Given the description of an element on the screen output the (x, y) to click on. 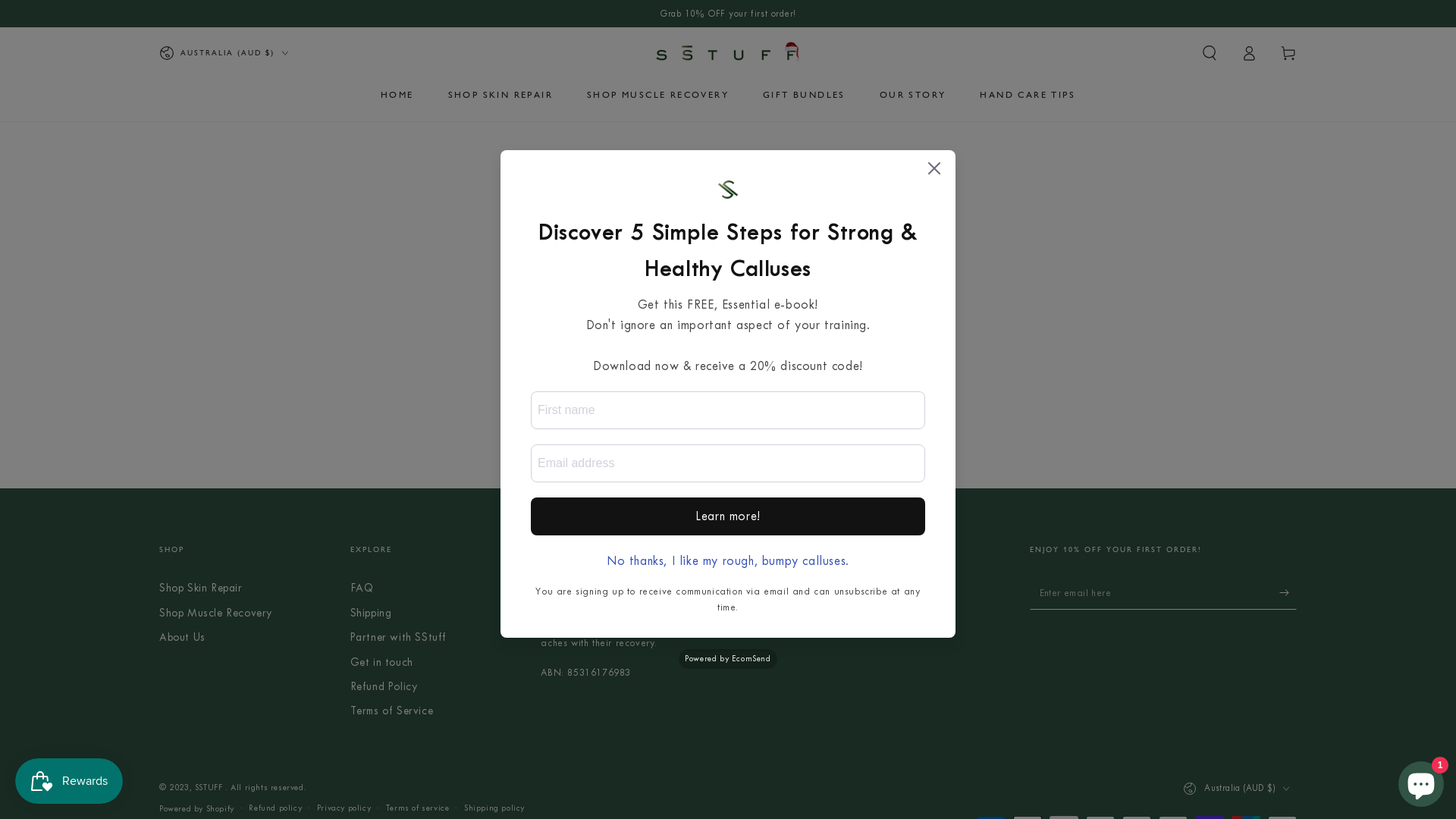
Shipping policy Element type: text (494, 808)
SHOP SKIN REPAIR Element type: text (500, 94)
Terms of service Element type: text (417, 808)
OUR STORY Element type: text (912, 94)
SSTUFF Element type: text (209, 787)
Log in Element type: text (1248, 52)
Grab 10% OFF your first order! Element type: text (727, 13)
Shop Skin Repair Element type: text (200, 587)
Terms of Service Element type: text (391, 710)
Shopify online store chat Element type: hover (1420, 780)
Smile.io Rewards Program Launcher Element type: hover (68, 780)
Australia (AUD $) Element type: text (1239, 787)
Shop Muscle Recovery Element type: text (215, 612)
Partner with SStuff Element type: text (398, 636)
Powered by Shopify Element type: text (196, 809)
Shipping Element type: text (371, 612)
About Us Element type: text (182, 636)
FAQ Element type: text (361, 587)
Privacy policy Element type: text (343, 808)
Get in touch Element type: text (381, 661)
AUSTRALIA (AUD $) Element type: text (223, 52)
RETURN TO SHOP Element type: text (727, 418)
HOME Element type: text (397, 94)
SHOP MUSCLE RECOVERY Element type: text (657, 94)
Refund Policy Element type: text (383, 686)
GIFT BUNDLES Element type: text (803, 94)
HAND CARE TIPS Element type: text (1027, 94)
Refund policy Element type: text (274, 808)
